Given the description of an element on the screen output the (x, y) to click on. 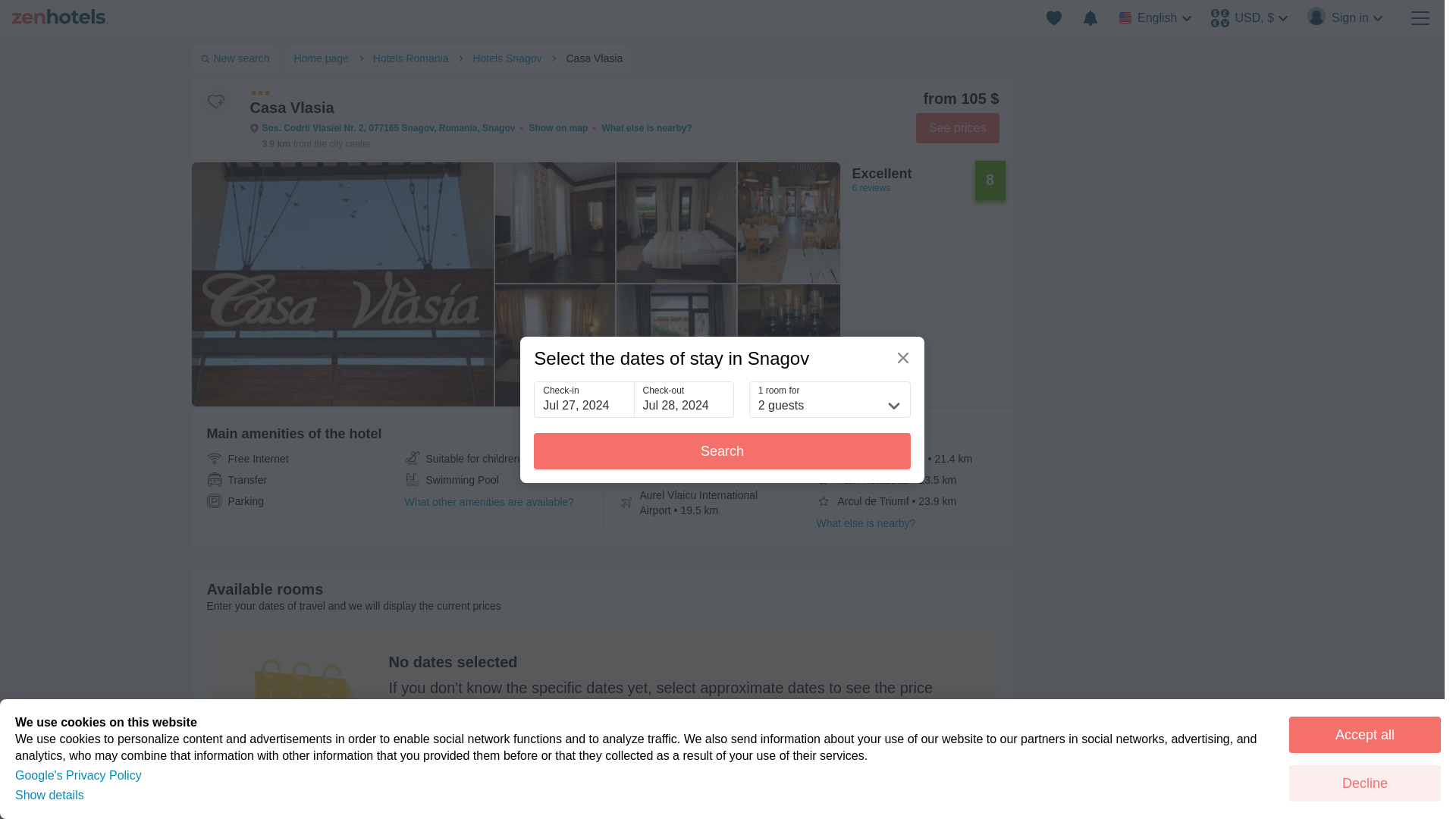
Hotels Snagov (509, 58)
Google's Privacy Policy (77, 775)
New search (234, 58)
Accept all (1364, 734)
Hotels Romania (414, 58)
Show on map (558, 128)
Home page (322, 58)
Sos. Codrii Vlasiei Nr. 2, 077165 Snagov, Romania, Snagov (388, 128)
Show details (49, 795)
Search (722, 450)
See prices (956, 128)
Decline (1364, 782)
Select dates (467, 747)
